Given the description of an element on the screen output the (x, y) to click on. 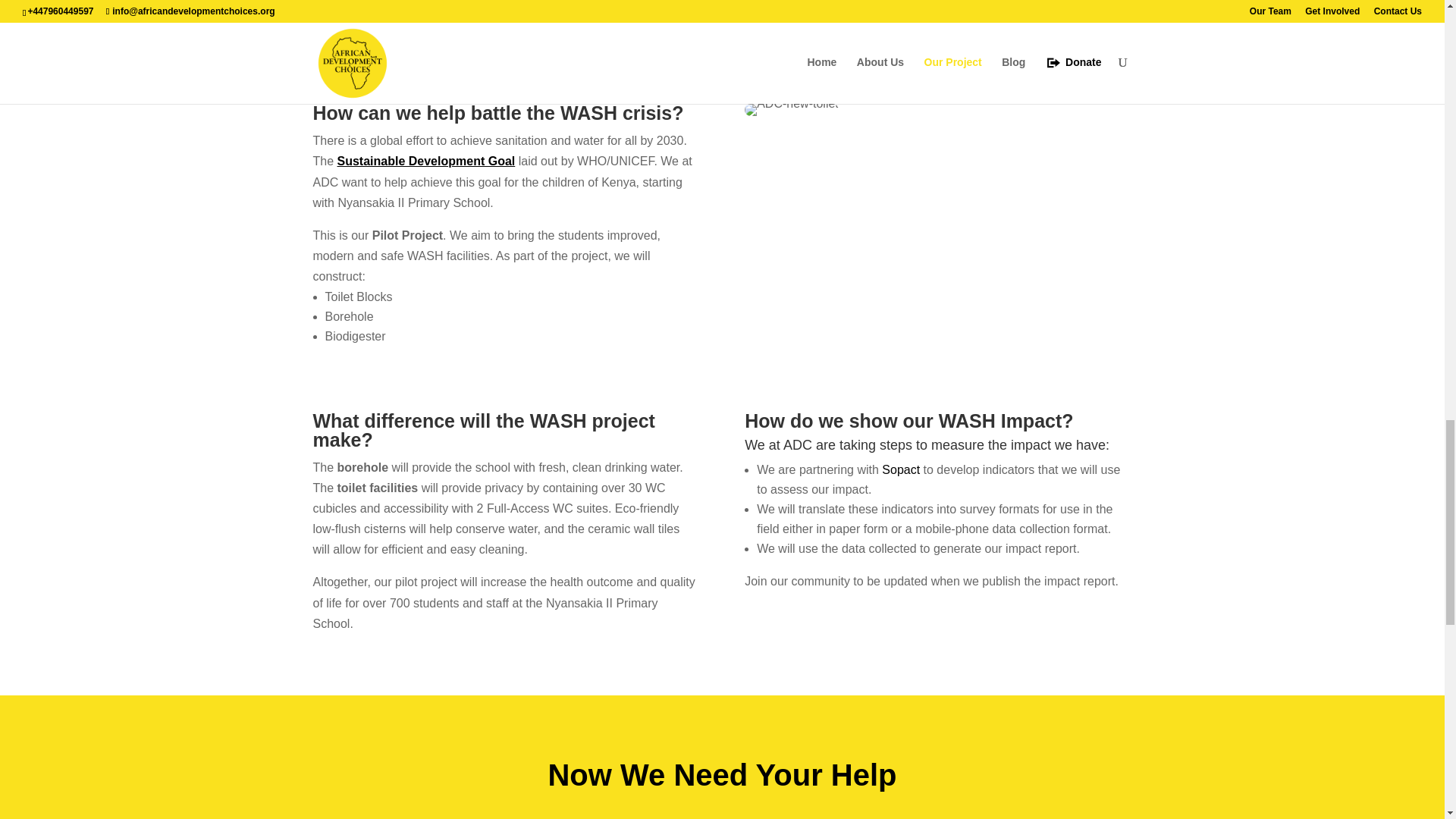
Sustainable Development Goal (426, 160)
ADC-new-toilet-6-768x432 (791, 110)
Sopact (901, 468)
